Given the description of an element on the screen output the (x, y) to click on. 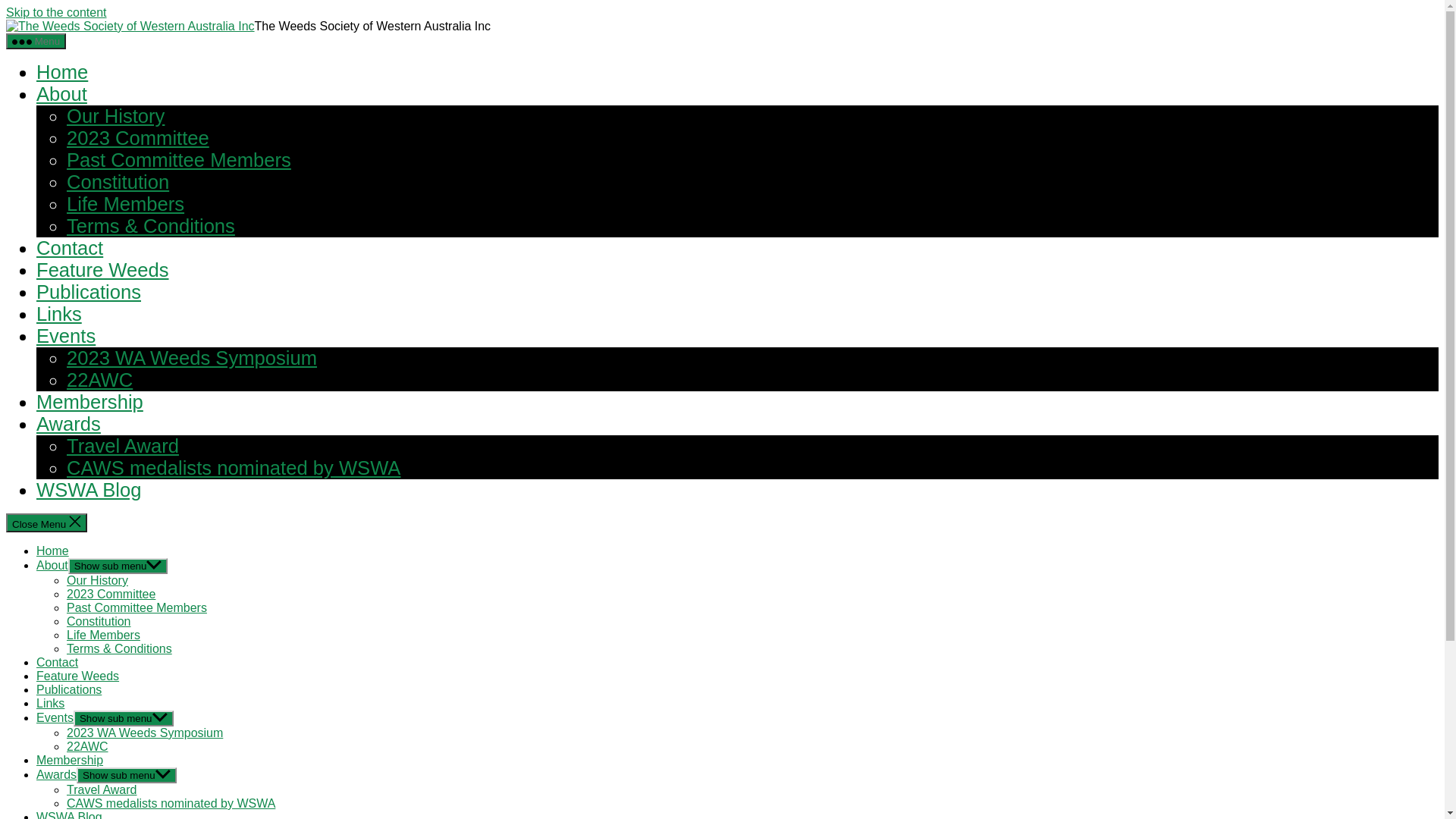
2023 Committee Element type: text (137, 137)
CAWS medalists nominated by WSWA Element type: text (170, 803)
22AWC Element type: text (87, 746)
Past Committee Members Element type: text (178, 159)
Show sub menu Element type: text (126, 775)
Feature Weeds Element type: text (102, 269)
Our History Element type: text (97, 580)
22AWC Element type: text (99, 379)
Events Element type: text (54, 717)
CAWS medalists nominated by WSWA Element type: text (233, 467)
Membership Element type: text (89, 401)
Awards Element type: text (56, 774)
Show sub menu Element type: text (123, 718)
About Element type: text (61, 93)
Links Element type: text (58, 313)
Contact Element type: text (57, 661)
Skip to the content Element type: text (56, 12)
Show sub menu Element type: text (118, 566)
Life Members Element type: text (103, 634)
About Element type: text (52, 564)
Publications Element type: text (88, 291)
Close Menu Element type: text (46, 522)
Home Element type: text (61, 71)
Terms & Conditions Element type: text (119, 648)
Past Committee Members Element type: text (136, 607)
2023 WA Weeds Symposium Element type: text (191, 357)
Menu Element type: text (35, 41)
Publications Element type: text (68, 689)
Events Element type: text (65, 335)
Terms & Conditions Element type: text (150, 225)
WSWA Blog Element type: text (88, 489)
Our History Element type: text (115, 115)
Links Element type: text (50, 702)
Awards Element type: text (68, 423)
Travel Award Element type: text (101, 789)
2023 Committee Element type: text (110, 593)
Contact Element type: text (69, 247)
Feature Weeds Element type: text (77, 675)
Membership Element type: text (69, 759)
Constitution Element type: text (117, 181)
Travel Award Element type: text (122, 445)
Home Element type: text (52, 550)
Life Members Element type: text (125, 203)
2023 WA Weeds Symposium Element type: text (144, 732)
Constitution Element type: text (98, 621)
